Given the description of an element on the screen output the (x, y) to click on. 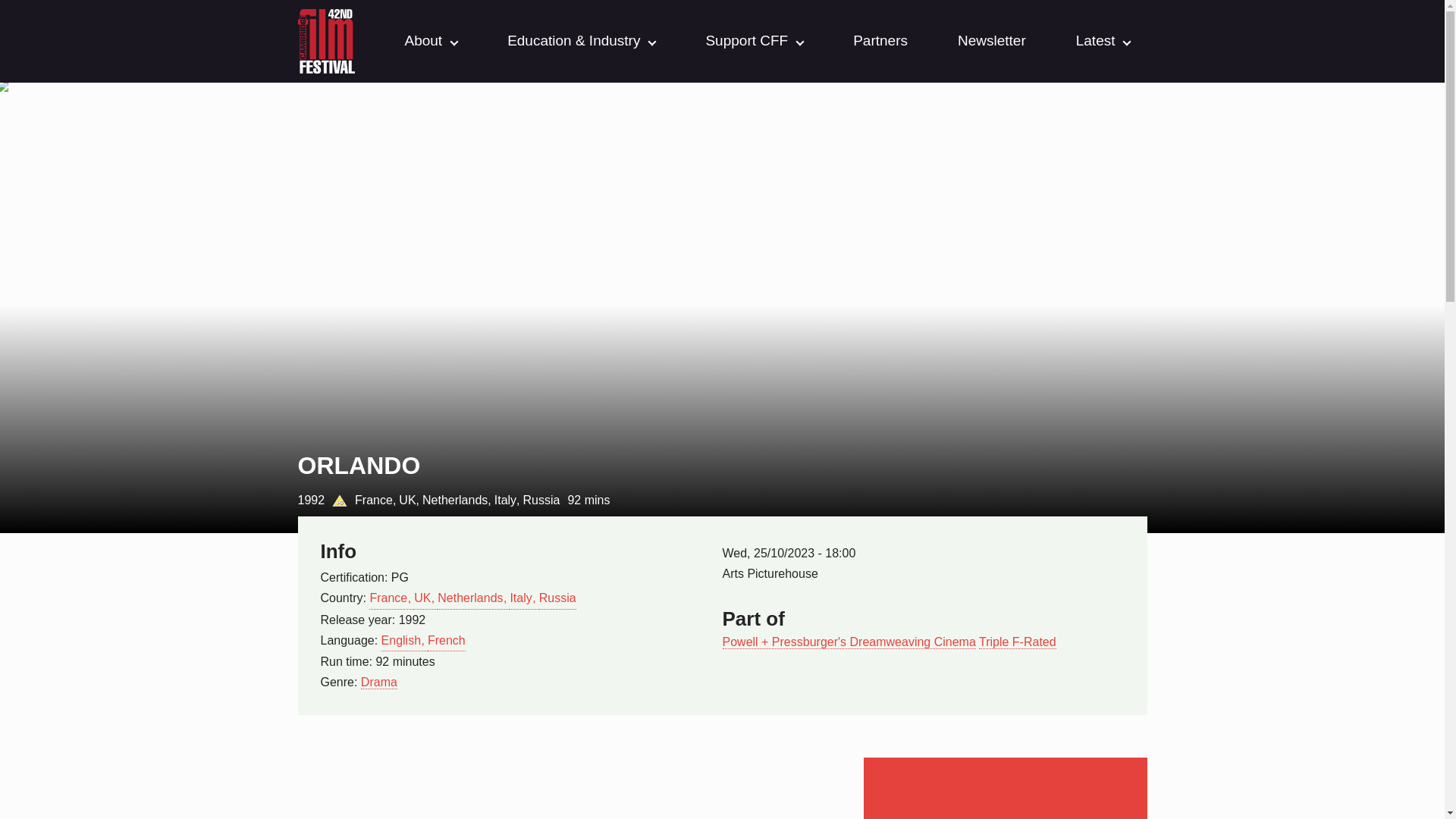
About (423, 40)
UK (425, 598)
French (446, 640)
Newsletter (992, 40)
Support CFF (745, 40)
English (404, 640)
Partners (880, 40)
France (391, 598)
Drama (379, 682)
Netherlands (473, 598)
Russia (557, 598)
Triple F-Rated (1017, 642)
Italy (523, 598)
Latest (1095, 40)
